Given the description of an element on the screen output the (x, y) to click on. 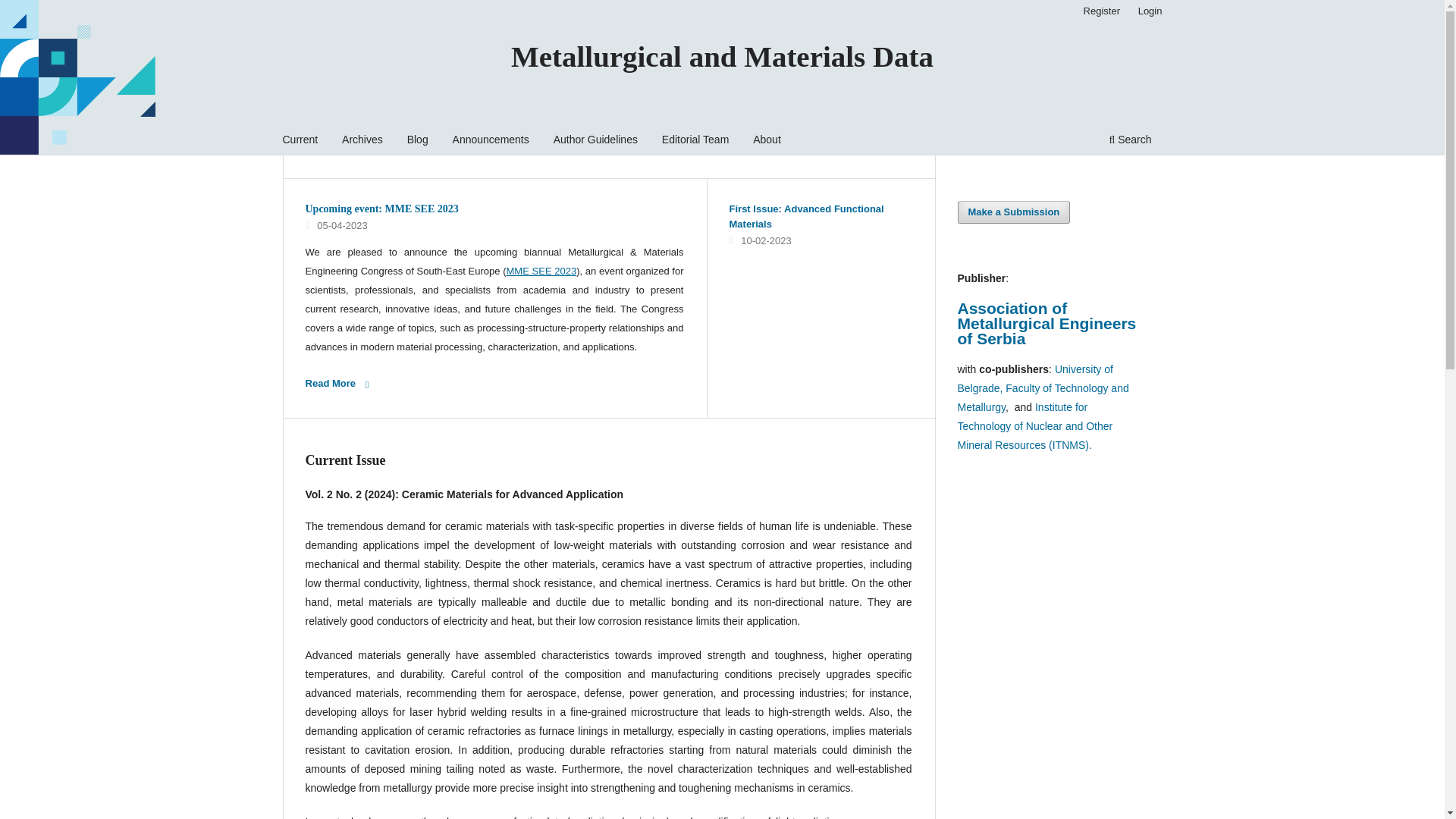
Blog (417, 140)
Read More (341, 383)
MME SEE 2023 (541, 270)
Login (1150, 11)
First Issue: Advanced Functional Materials (806, 216)
Author Guidelines (595, 140)
About (767, 140)
Archives (362, 140)
Register (1100, 11)
Announcements (490, 140)
